Given the description of an element on the screen output the (x, y) to click on. 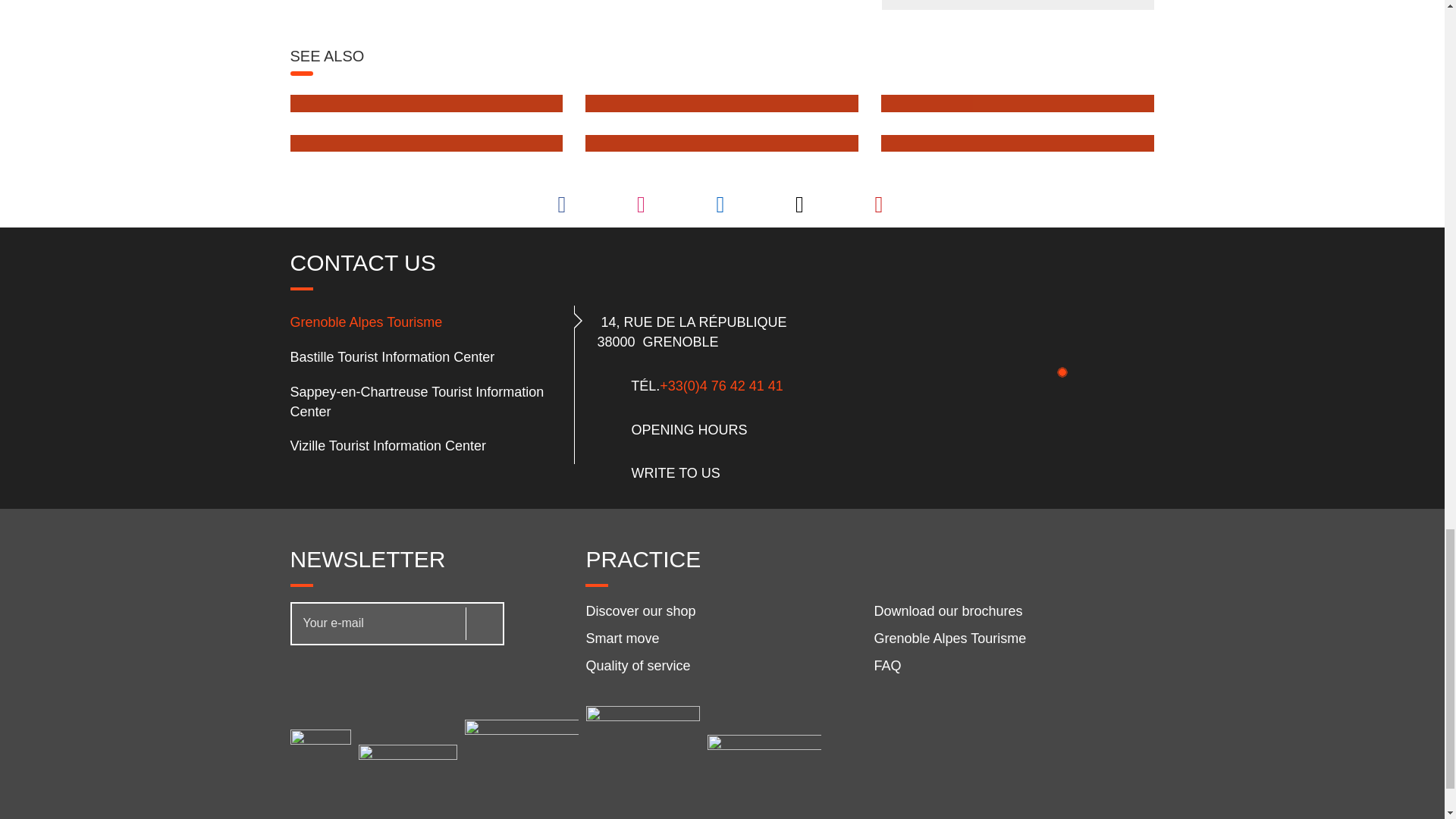
OK (482, 623)
